Given the description of an element on the screen output the (x, y) to click on. 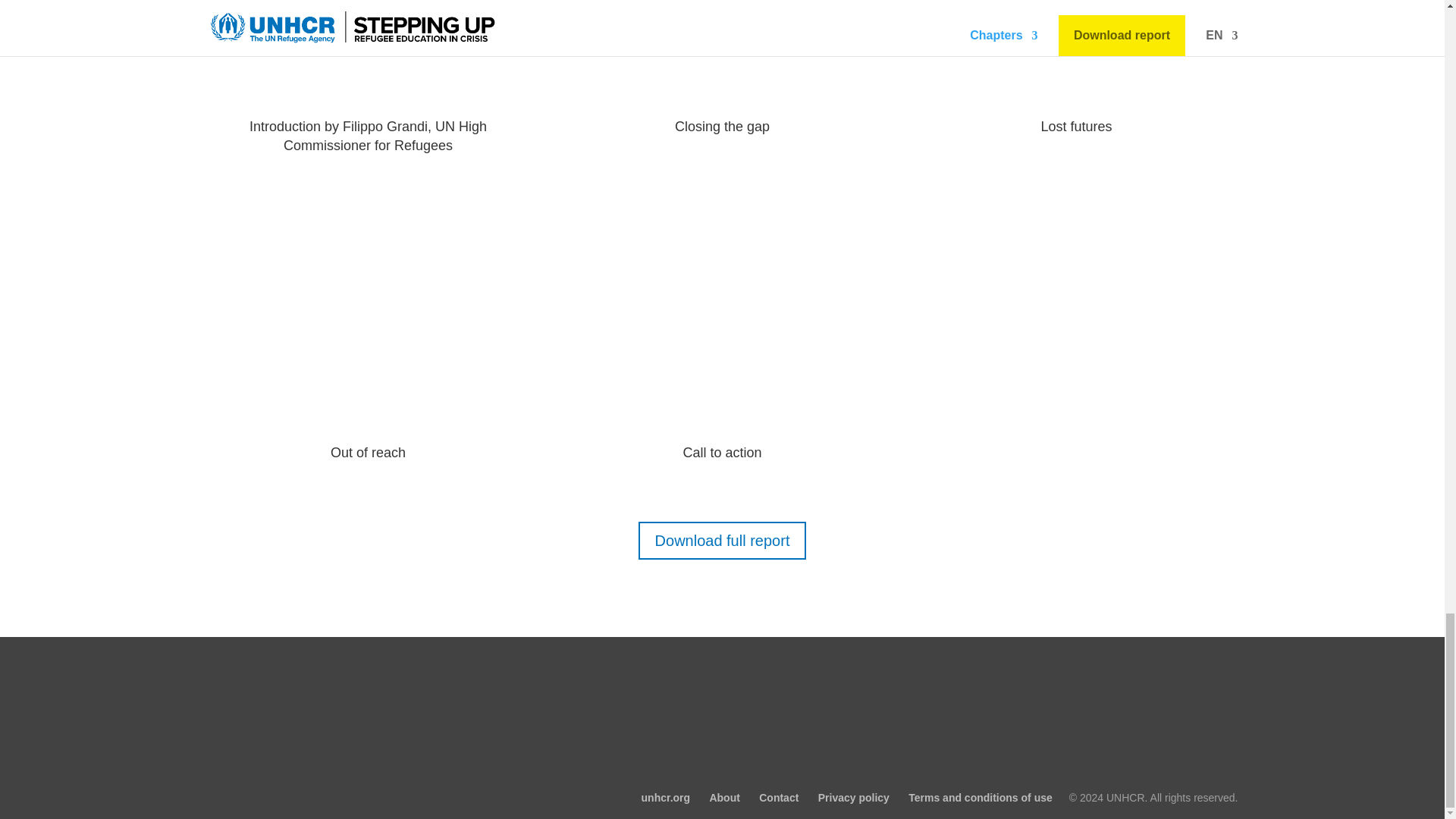
Download full report (722, 540)
Closing the gap (722, 126)
Privacy policy (853, 797)
About (724, 797)
Call to action (721, 452)
Terms and conditions of use (980, 797)
Out of reach (368, 452)
Contact (777, 797)
Lost futures (1076, 126)
